Given the description of an element on the screen output the (x, y) to click on. 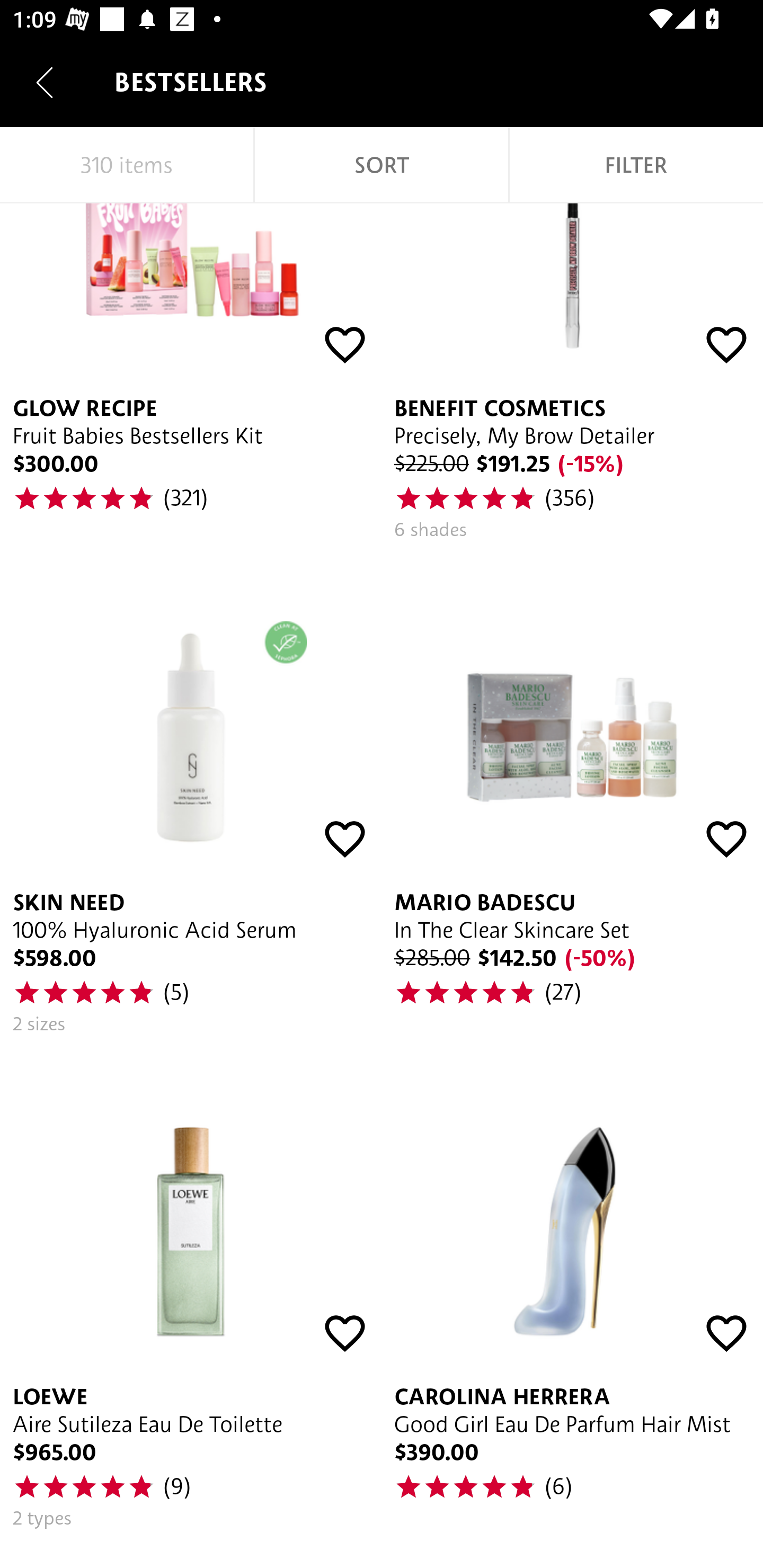
Navigate up (44, 82)
SORT (381, 165)
FILTER (636, 165)
